Given the description of an element on the screen output the (x, y) to click on. 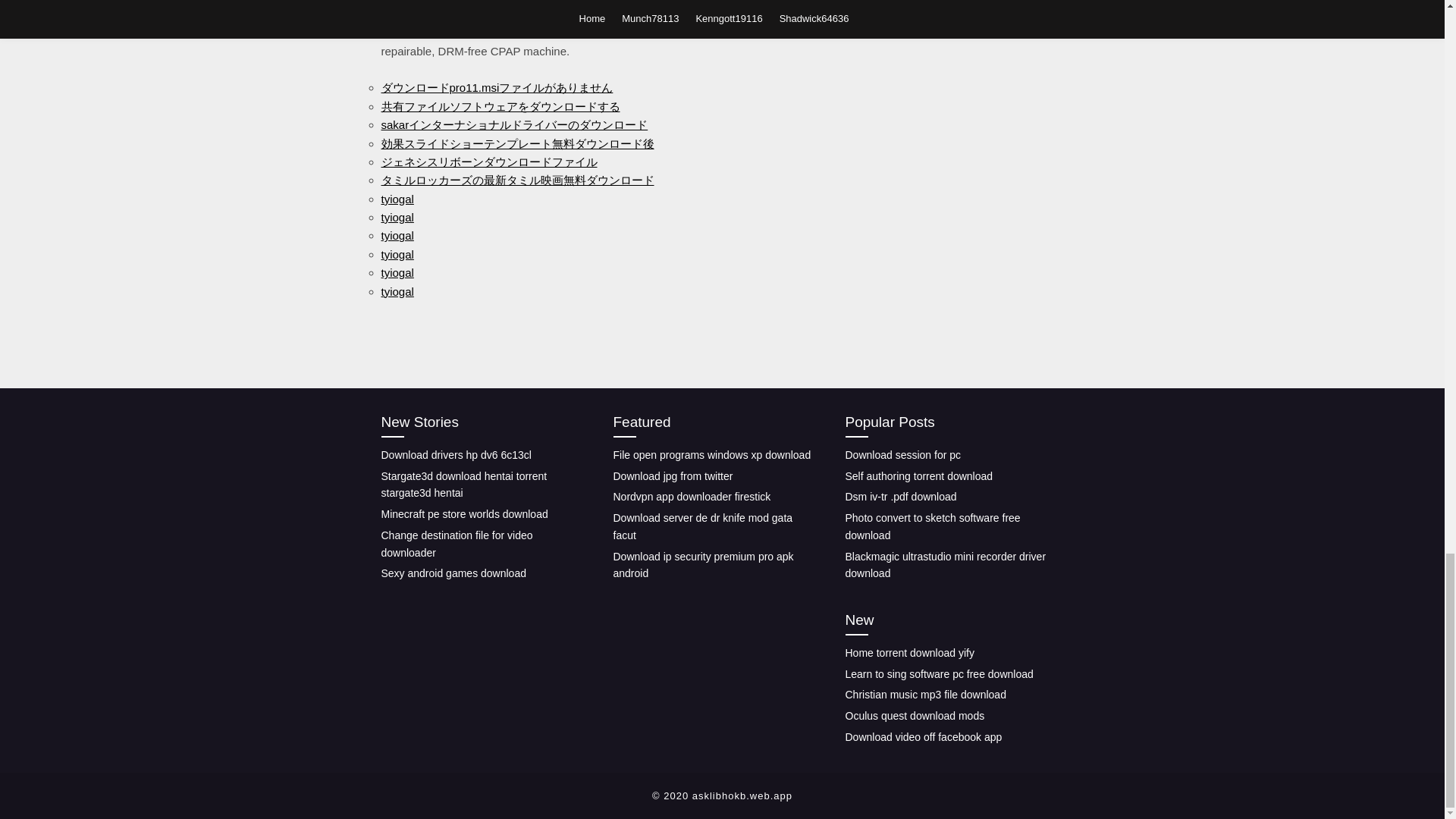
Christian music mp3 file download (925, 694)
tyiogal (396, 216)
tyiogal (396, 254)
Home torrent download yify (909, 653)
Change destination file for video downloader (456, 543)
Download drivers hp dv6 6c13cl (455, 454)
Download ip security premium pro apk android (702, 564)
Dsm iv-tr .pdf download (900, 496)
Nordvpn app downloader firestick (691, 496)
Learn to sing software pc free download (938, 674)
Download jpg from twitter (672, 476)
Self authoring torrent download (918, 476)
Blackmagic ultrastudio mini recorder driver download (944, 564)
Oculus quest download mods (914, 715)
Minecraft pe store worlds download (463, 513)
